Given the description of an element on the screen output the (x, y) to click on. 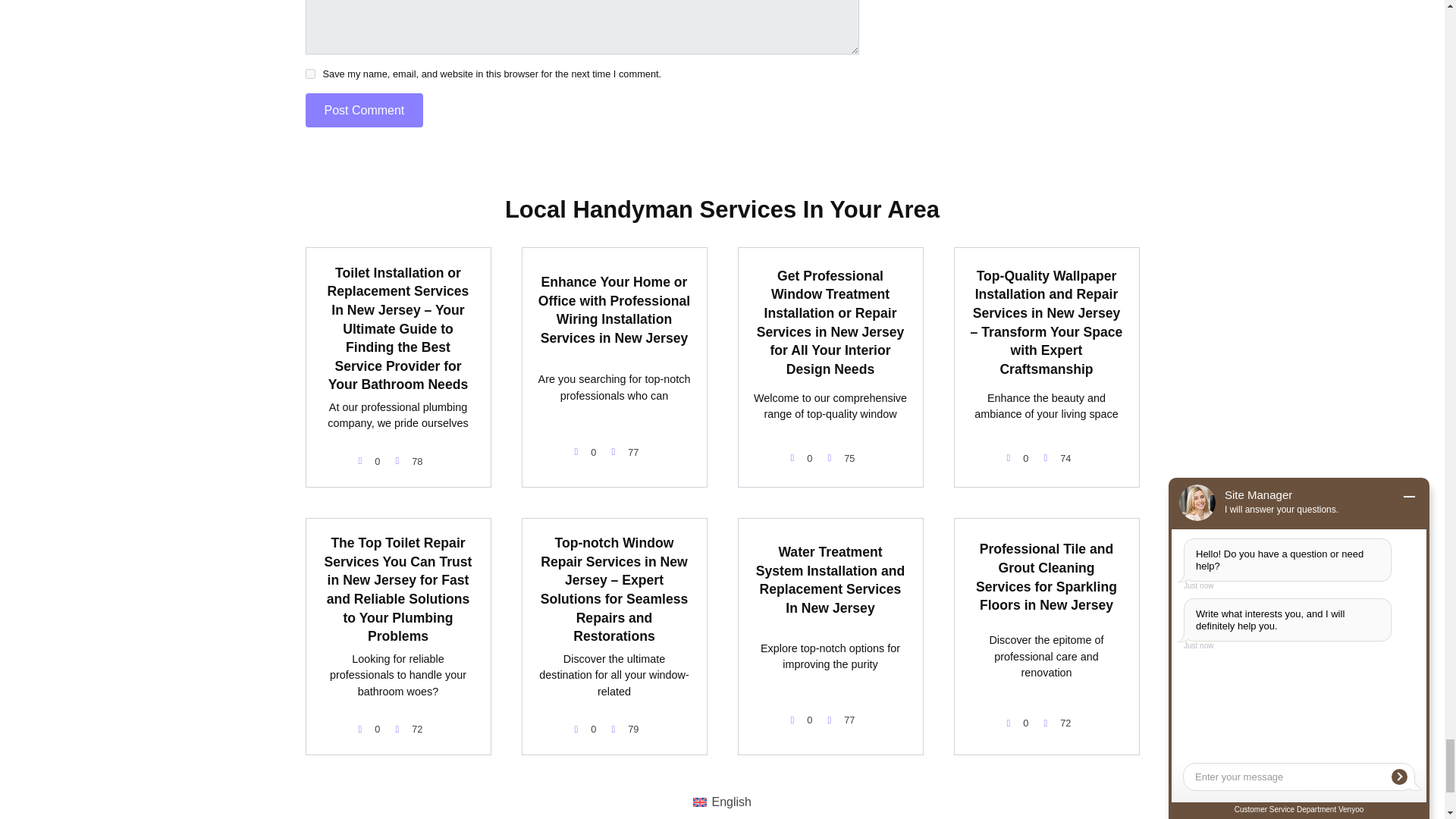
Post Comment (363, 110)
yes (309, 73)
